Given the description of an element on the screen output the (x, y) to click on. 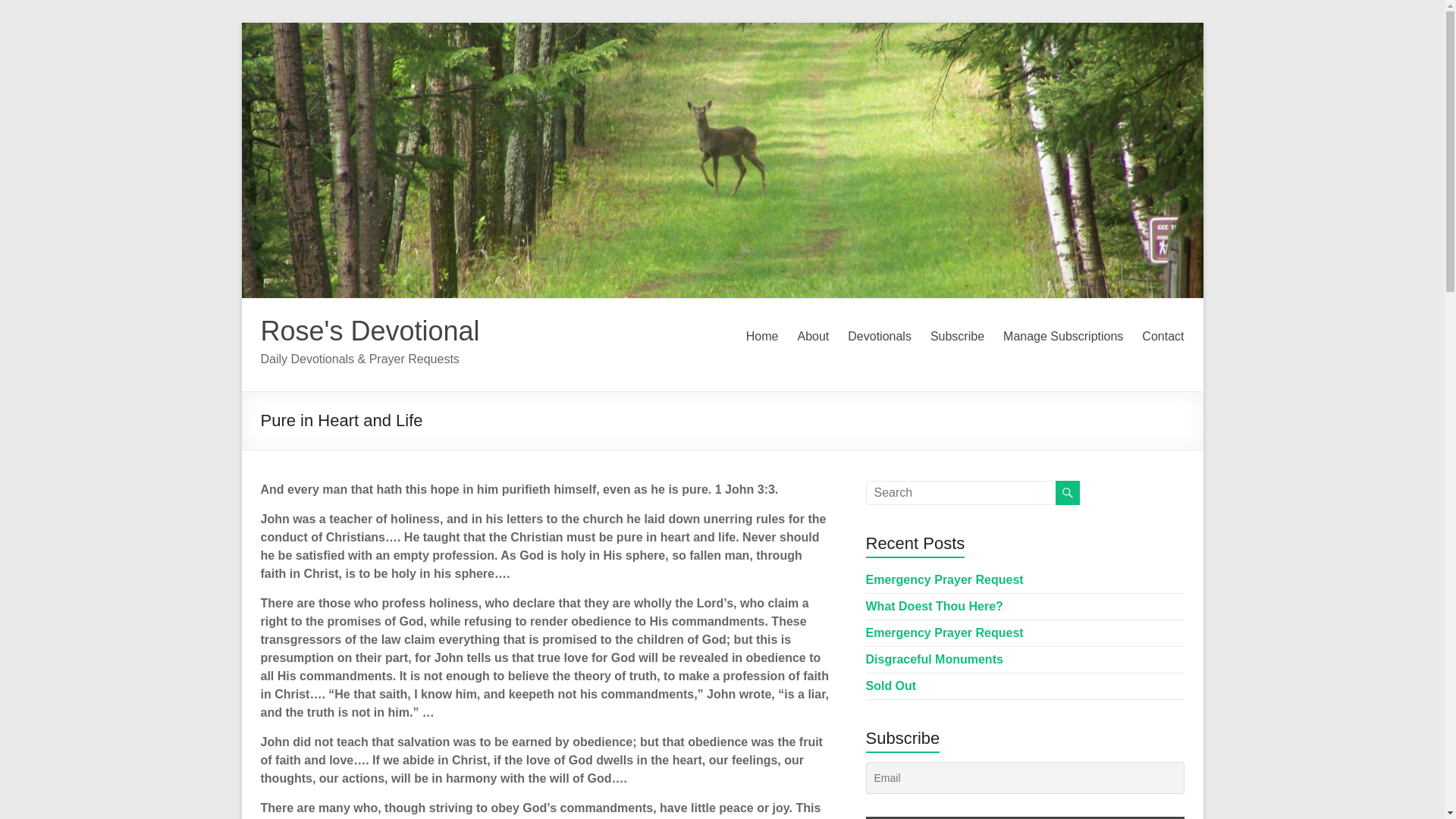
About (812, 336)
Rose's Devotional (370, 330)
Contact (1162, 336)
Rose's Devotional (370, 330)
Emergency Prayer Request (944, 579)
Home (761, 336)
Manage Subscriptions (1062, 336)
Subscribe (957, 336)
Devotionals (879, 336)
What Doest Thou Here? (934, 605)
